Given the description of an element on the screen output the (x, y) to click on. 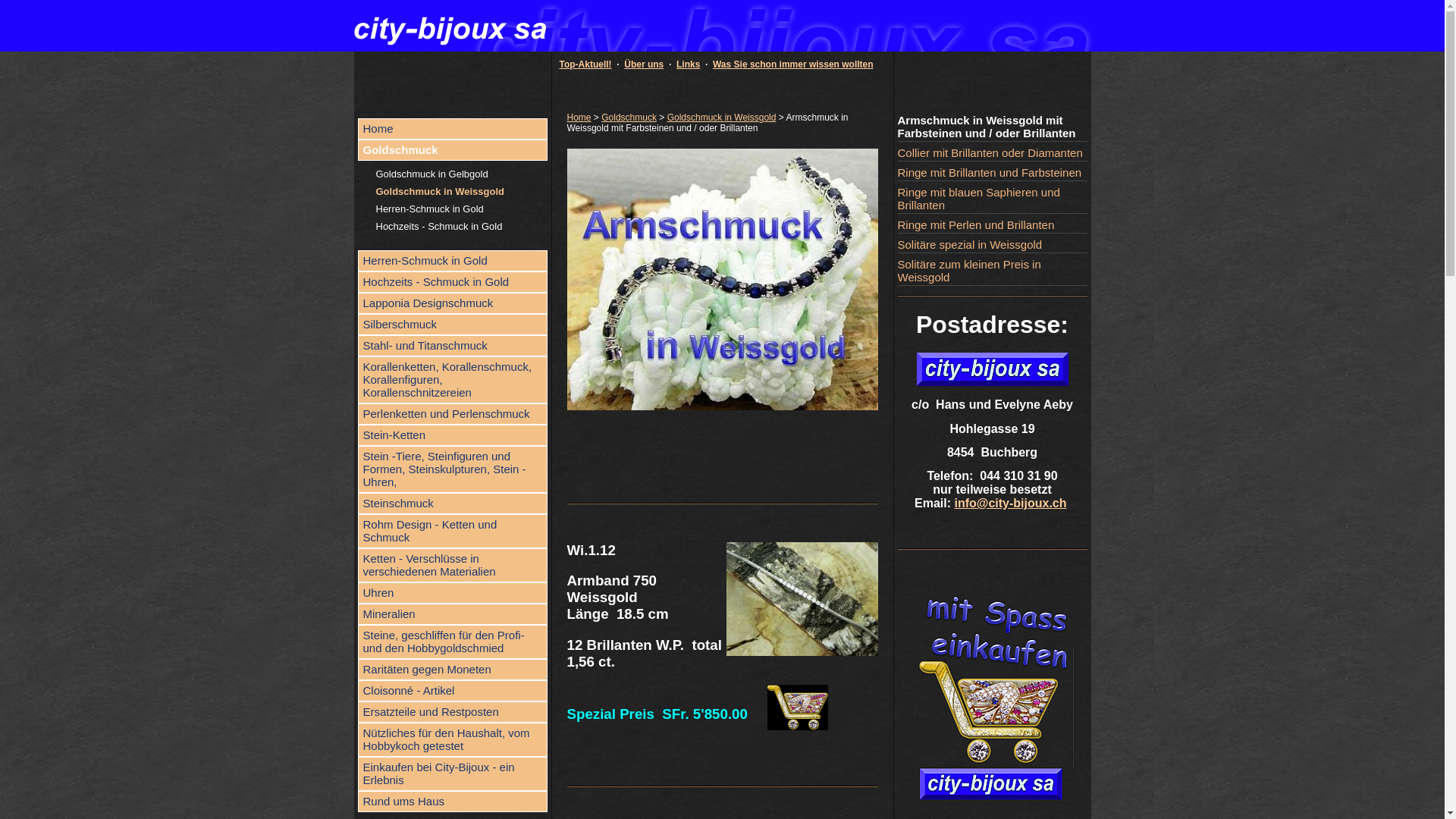
Silberschmuck Element type: text (452, 324)
Goldschmuck in Gelbgold Element type: text (461, 173)
Was Sie schon immer wissen wollten Element type: text (792, 64)
Einkaufen bei City-Bijoux - ein Erlebnis Element type: text (452, 773)
Rohm Design - Ketten und Schmuck Element type: text (452, 531)
Ersatzteile und Restposten Element type: text (452, 711)
Links Element type: text (687, 64)
Goldschmuck Element type: text (628, 117)
Ringe mit blauen Saphieren und Brillanten Element type: text (992, 198)
Goldschmuck in Weissgold Element type: text (721, 117)
Goldschmuck Element type: text (452, 149)
Hochzeits - Schmuck in Gold Element type: text (461, 226)
Stein-Ketten Element type: text (452, 434)
Herren-Schmuck in Gold Element type: text (452, 260)
Steinschmuck Element type: text (452, 503)
Herren-Schmuck in Gold Element type: text (461, 208)
Collier mit Brillanten oder Diamanten Element type: text (992, 152)
info@city-bijoux.ch Element type: text (1009, 502)
Goldschmuck in Weissgold Element type: text (461, 191)
Ringe mit Perlen und Brillanten Element type: text (992, 224)
Lapponia Designschmuck Element type: text (452, 302)
Perlenketten und Perlenschmuck Element type: text (452, 413)
Home Element type: text (452, 128)
Home Element type: text (579, 117)
Uhren Element type: text (452, 592)
Hochzeits - Schmuck in Gold Element type: text (452, 281)
Rund ums Haus Element type: text (452, 801)
Stahl- und Titanschmuck Element type: text (452, 345)
Top-Aktuell! Element type: text (585, 64)
Ringe mit Brillanten und Farbsteinen Element type: text (992, 172)
Mineralien Element type: text (452, 613)
